Given the description of an element on the screen output the (x, y) to click on. 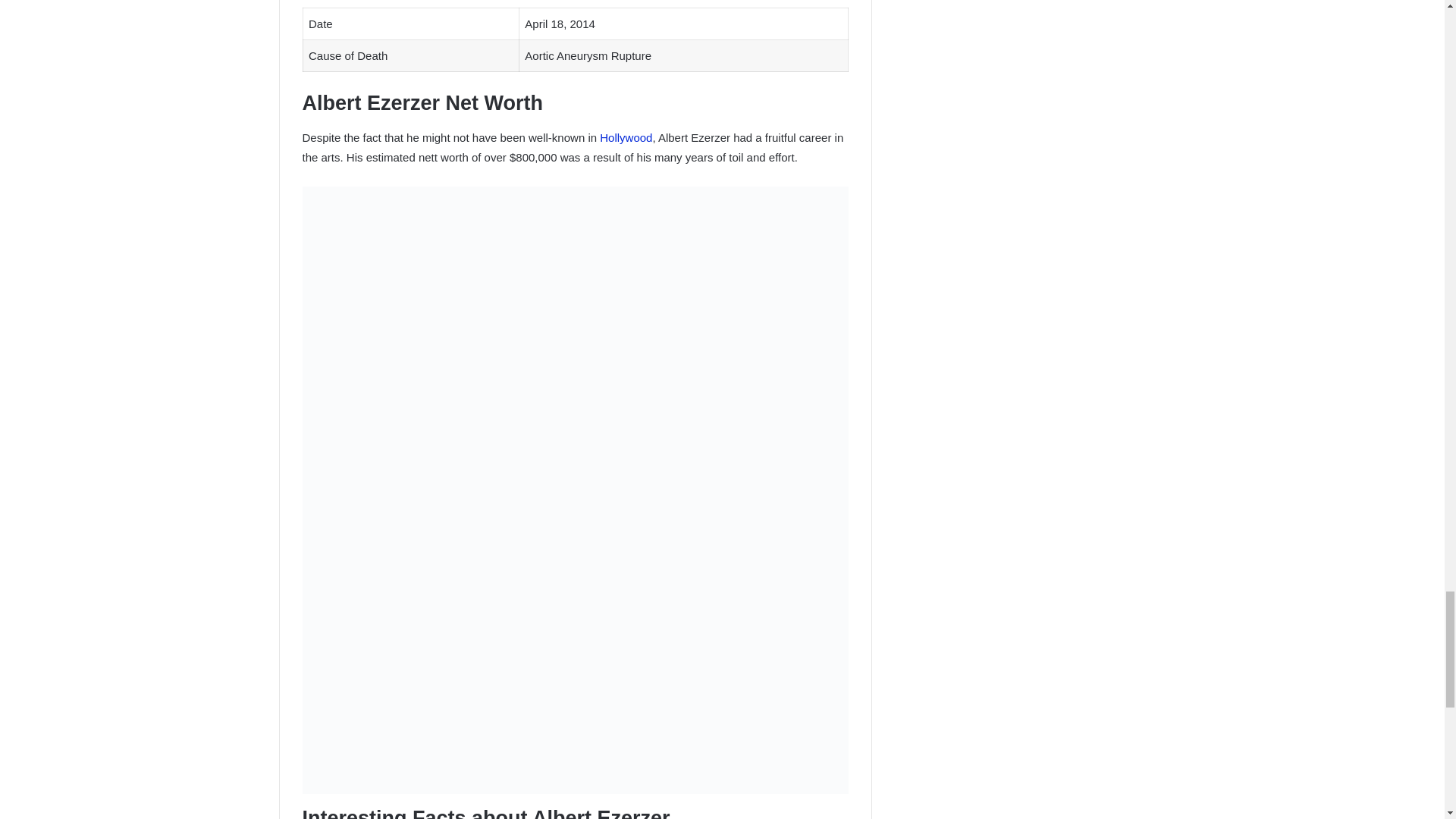
Hollywood (625, 137)
